Given the description of an element on the screen output the (x, y) to click on. 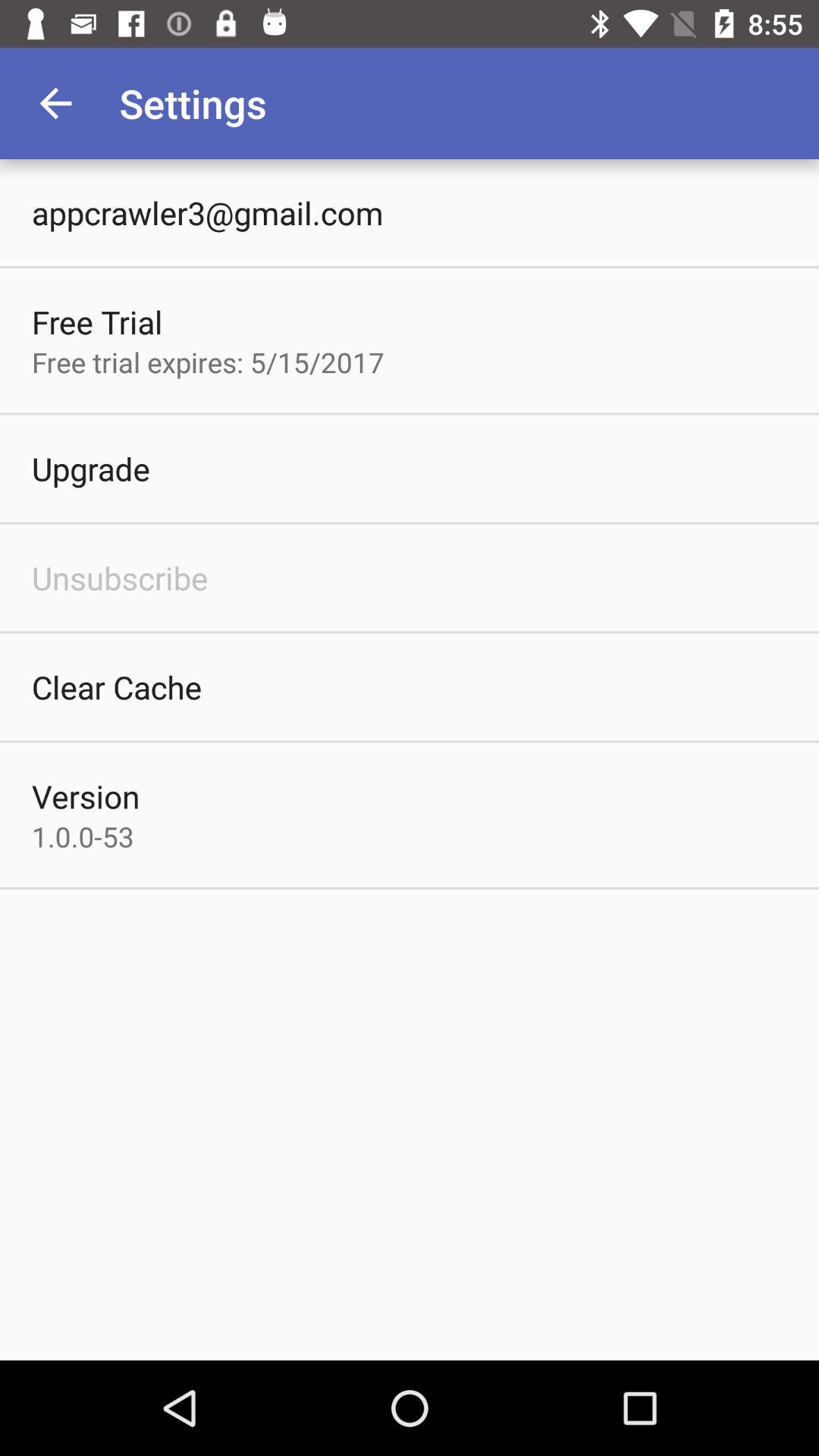
press the 1 0 0 icon (82, 836)
